Given the description of an element on the screen output the (x, y) to click on. 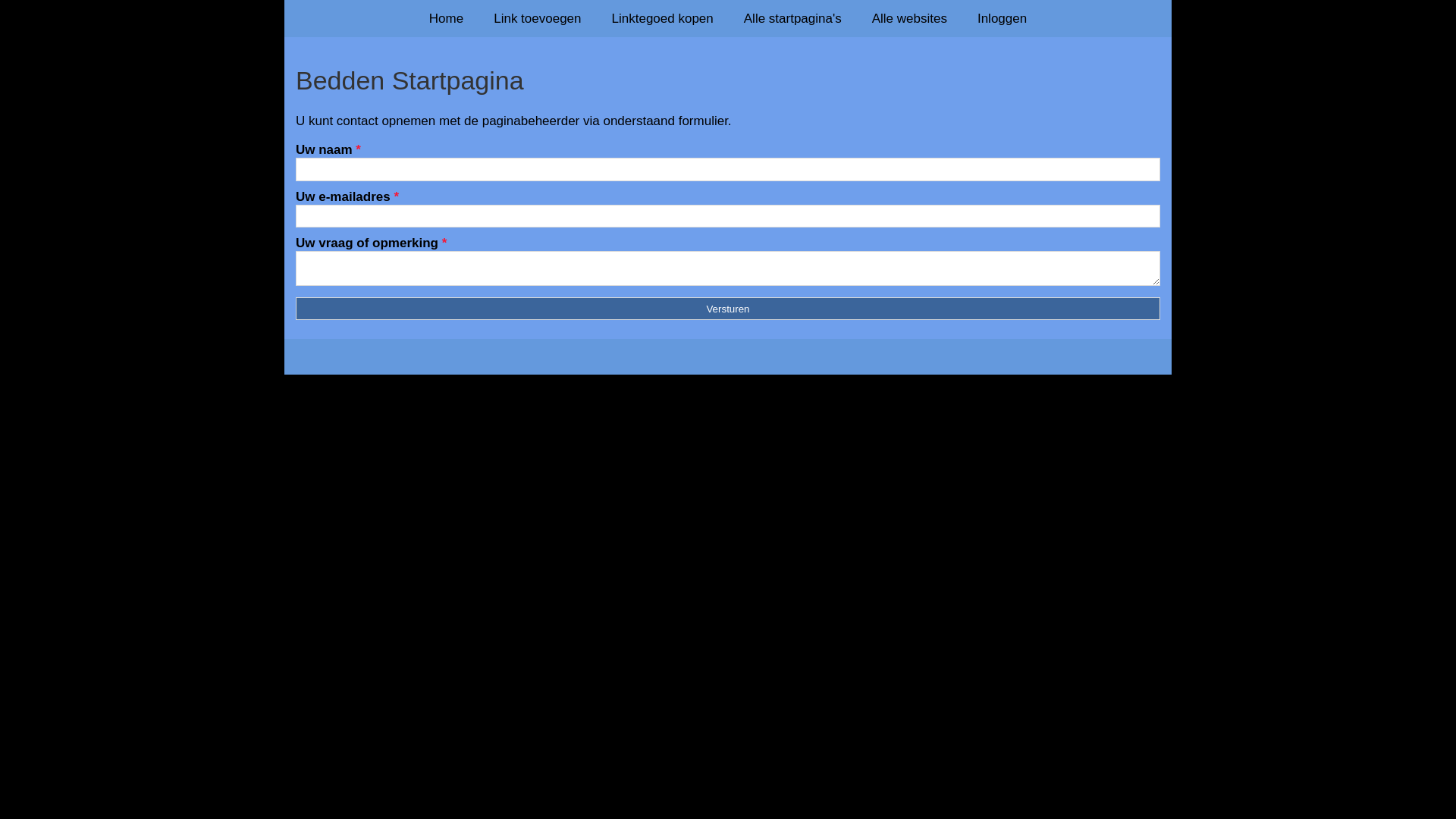
Versturen Element type: text (727, 308)
Bedden Startpagina Element type: text (727, 80)
Inloggen Element type: text (1001, 18)
Home Element type: text (446, 18)
Linktegoed kopen Element type: text (662, 18)
Alle startpagina's Element type: text (792, 18)
Alle websites Element type: text (909, 18)
Link toevoegen Element type: text (537, 18)
